Given the description of an element on the screen output the (x, y) to click on. 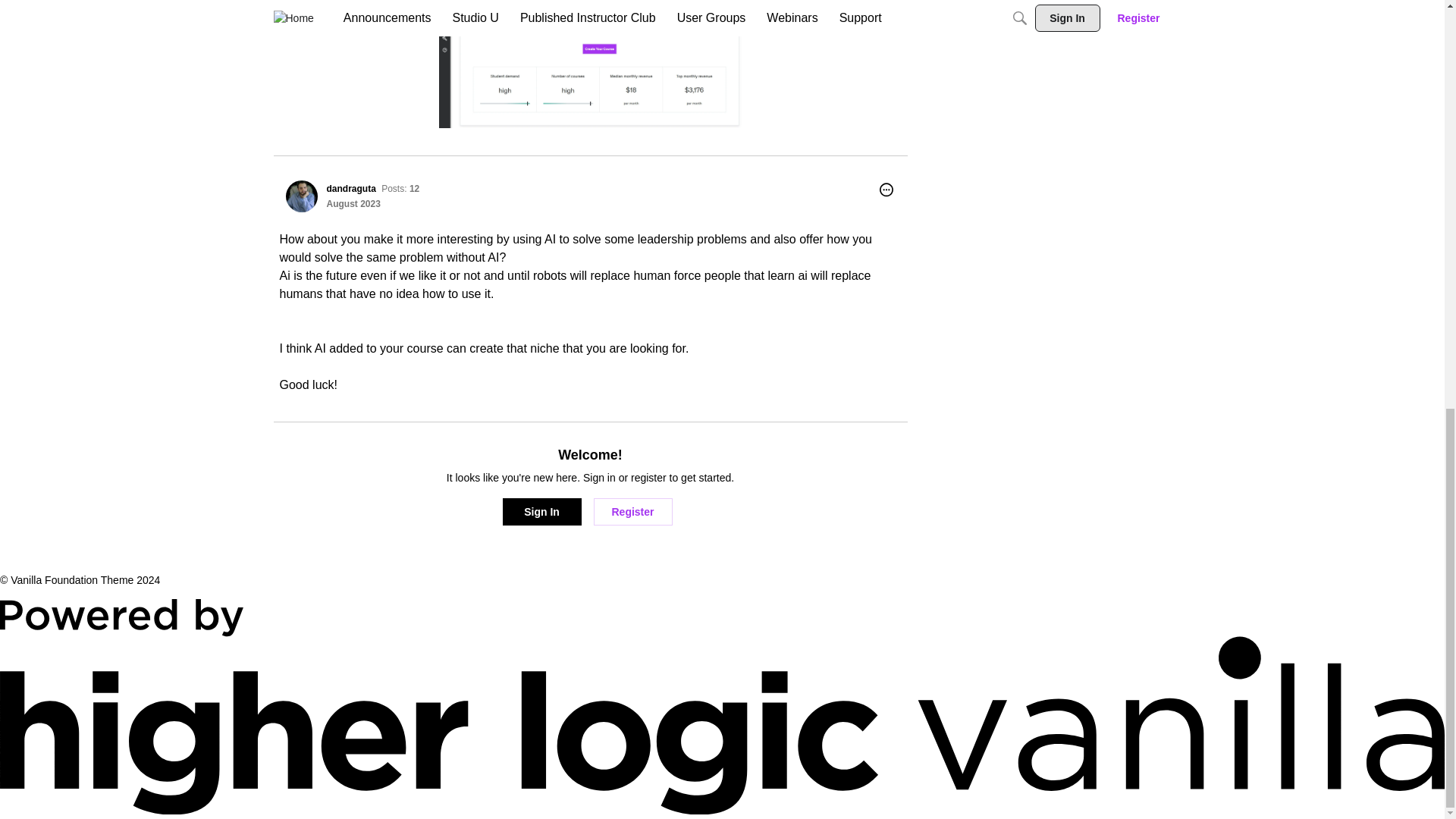
Register (631, 511)
dandraguta (350, 188)
August 22, 2023 12:56PM (353, 204)
August 2023 (353, 204)
Sign In (541, 511)
Register (631, 511)
dandraguta (301, 196)
Sign In (541, 511)
